Given the description of an element on the screen output the (x, y) to click on. 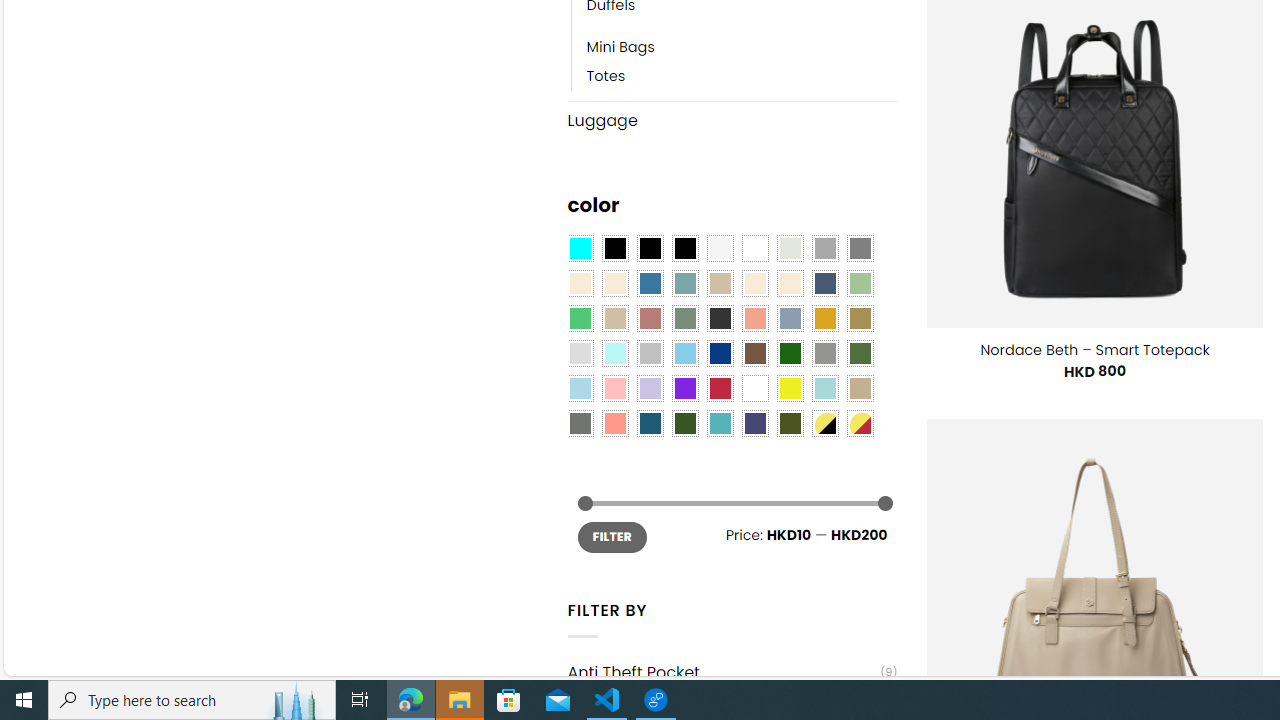
Luggage (732, 120)
Brown (755, 354)
Green (859, 354)
Purple Navy (755, 424)
